Given the description of an element on the screen output the (x, y) to click on. 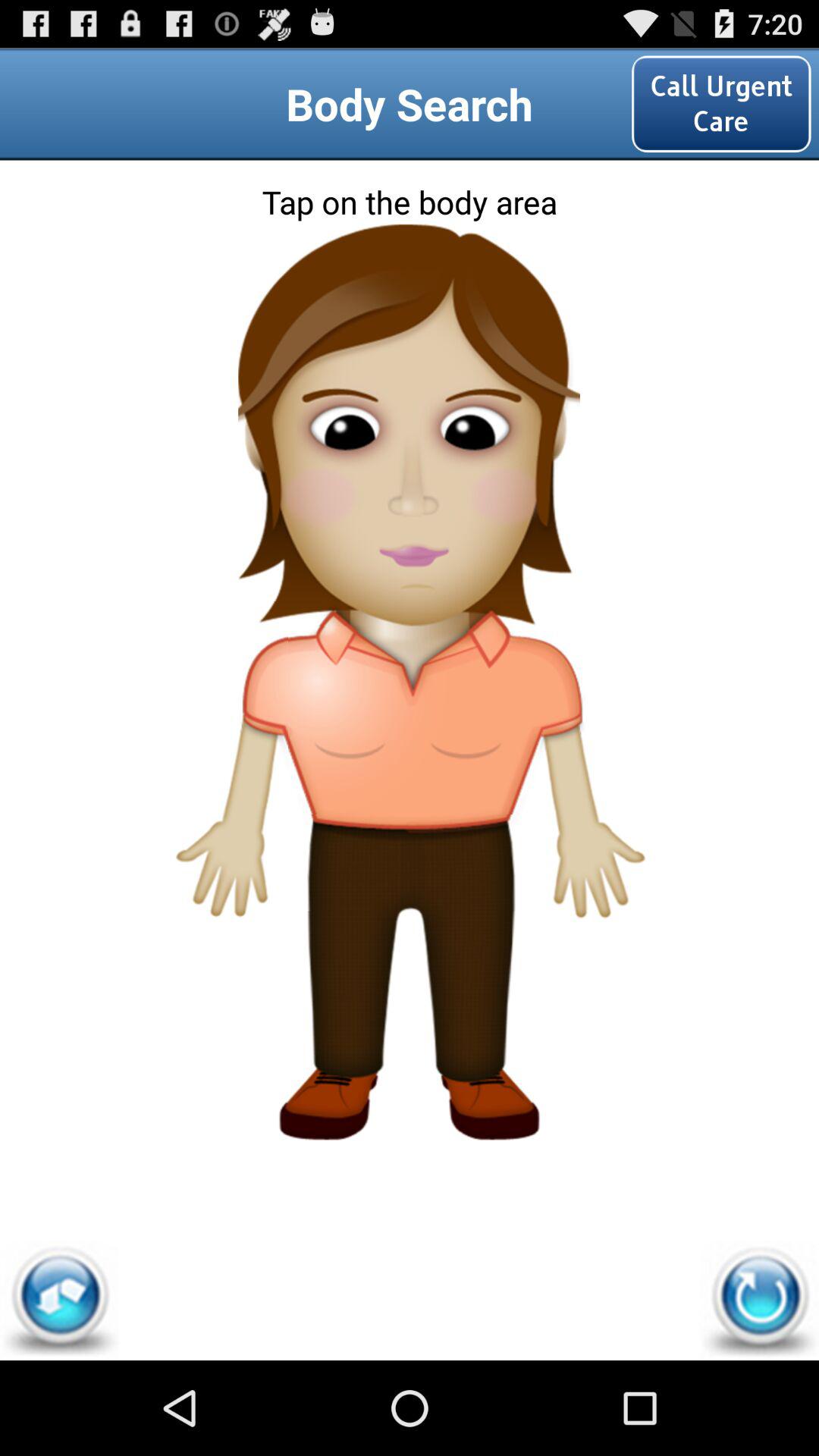
image head location (409, 290)
